Given the description of an element on the screen output the (x, y) to click on. 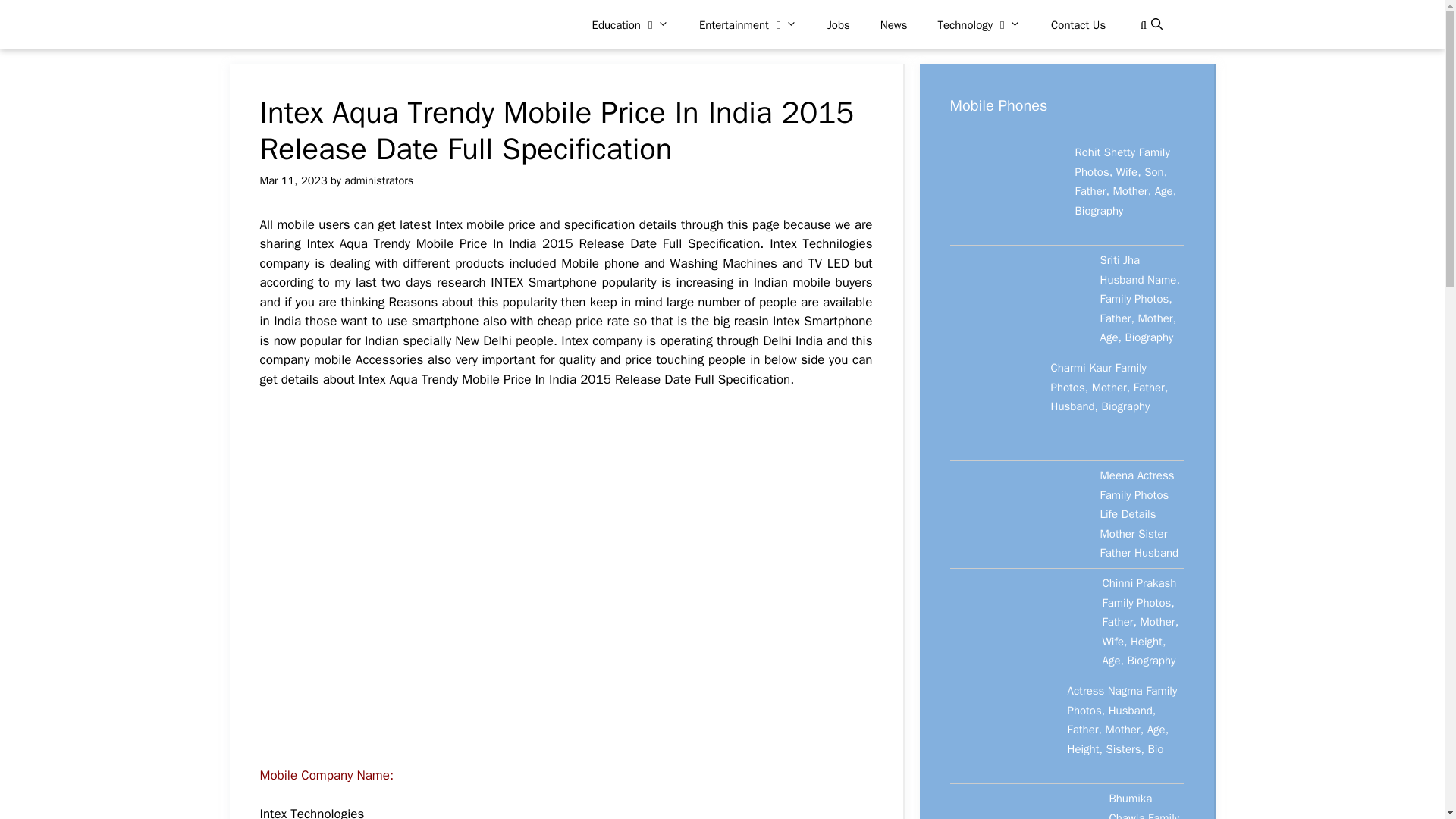
Contact Us (1078, 23)
Entertainment (748, 23)
6:21 am (292, 180)
administrators (378, 180)
Mar 11, 2023 (292, 180)
News (893, 23)
Jobs (838, 23)
sekho.in (325, 24)
